Given the description of an element on the screen output the (x, y) to click on. 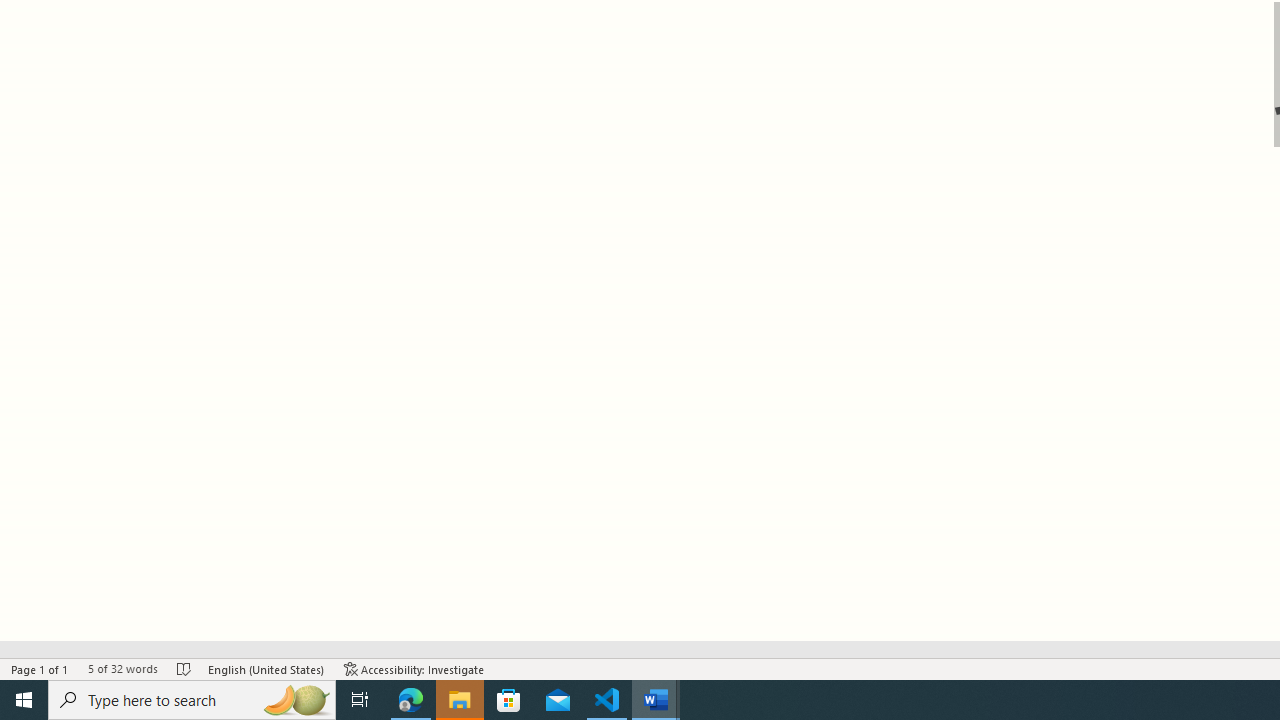
Page Number Page 1 of 1 (39, 668)
Language English (United States) (266, 668)
Spelling and Grammar Check No Errors (184, 668)
Word Count 5 of 32 words (122, 668)
Accessibility Checker Accessibility: Investigate (413, 668)
